Given the description of an element on the screen output the (x, y) to click on. 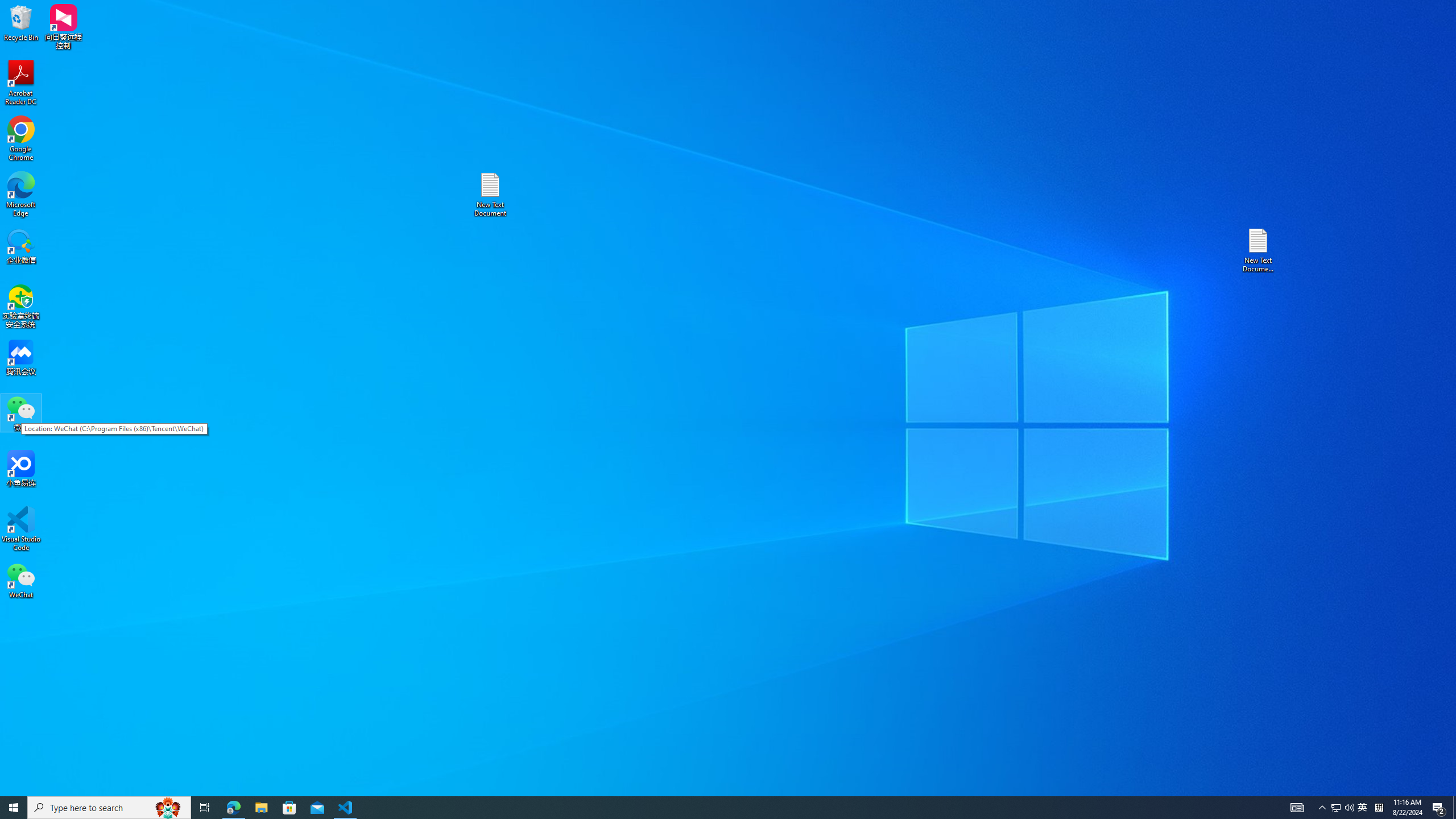
Recycle Bin (21, 22)
Running applications (707, 807)
Show desktop (1454, 807)
Search highlights icon opens search home window (167, 807)
Notification Chevron (1322, 807)
WeChat (21, 580)
Action Center, 2 new notifications (1439, 807)
Start (13, 807)
AutomationID: 4105 (1297, 807)
Microsoft Edge (1362, 807)
User Promoted Notification Area (21, 194)
